Given the description of an element on the screen output the (x, y) to click on. 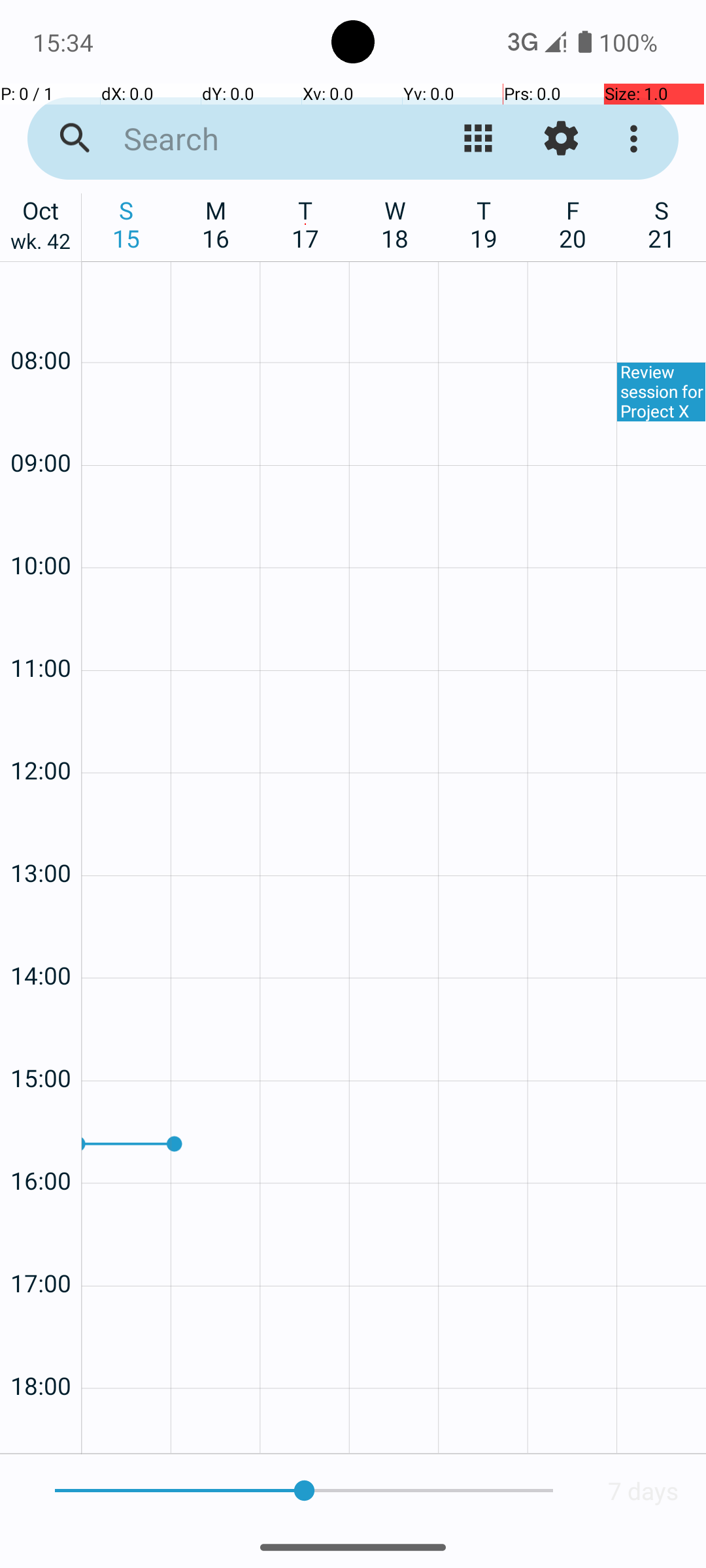
wk. 42 Element type: android.widget.TextView (40, 243)
7 days Element type: android.widget.TextView (642, 1490)
08:00 Element type: android.widget.TextView (40, 324)
09:00 Element type: android.widget.TextView (40, 427)
10:00 Element type: android.widget.TextView (40, 529)
11:00 Element type: android.widget.TextView (40, 632)
12:00 Element type: android.widget.TextView (40, 735)
13:00 Element type: android.widget.TextView (40, 837)
14:00 Element type: android.widget.TextView (40, 940)
15:00 Element type: android.widget.TextView (40, 1042)
16:00 Element type: android.widget.TextView (40, 1145)
17:00 Element type: android.widget.TextView (40, 1247)
18:00 Element type: android.widget.TextView (40, 1350)
19:00 Element type: android.widget.TextView (40, 1428)
S
15 Element type: android.widget.TextView (126, 223)
M
16 Element type: android.widget.TextView (215, 223)
T
17 Element type: android.widget.TextView (305, 223)
W
18 Element type: android.widget.TextView (394, 223)
T
19 Element type: android.widget.TextView (483, 223)
F
20 Element type: android.widget.TextView (572, 223)
S
21 Element type: android.widget.TextView (661, 223)
Review session for Project X Element type: android.widget.TextView (661, 391)
